Given the description of an element on the screen output the (x, y) to click on. 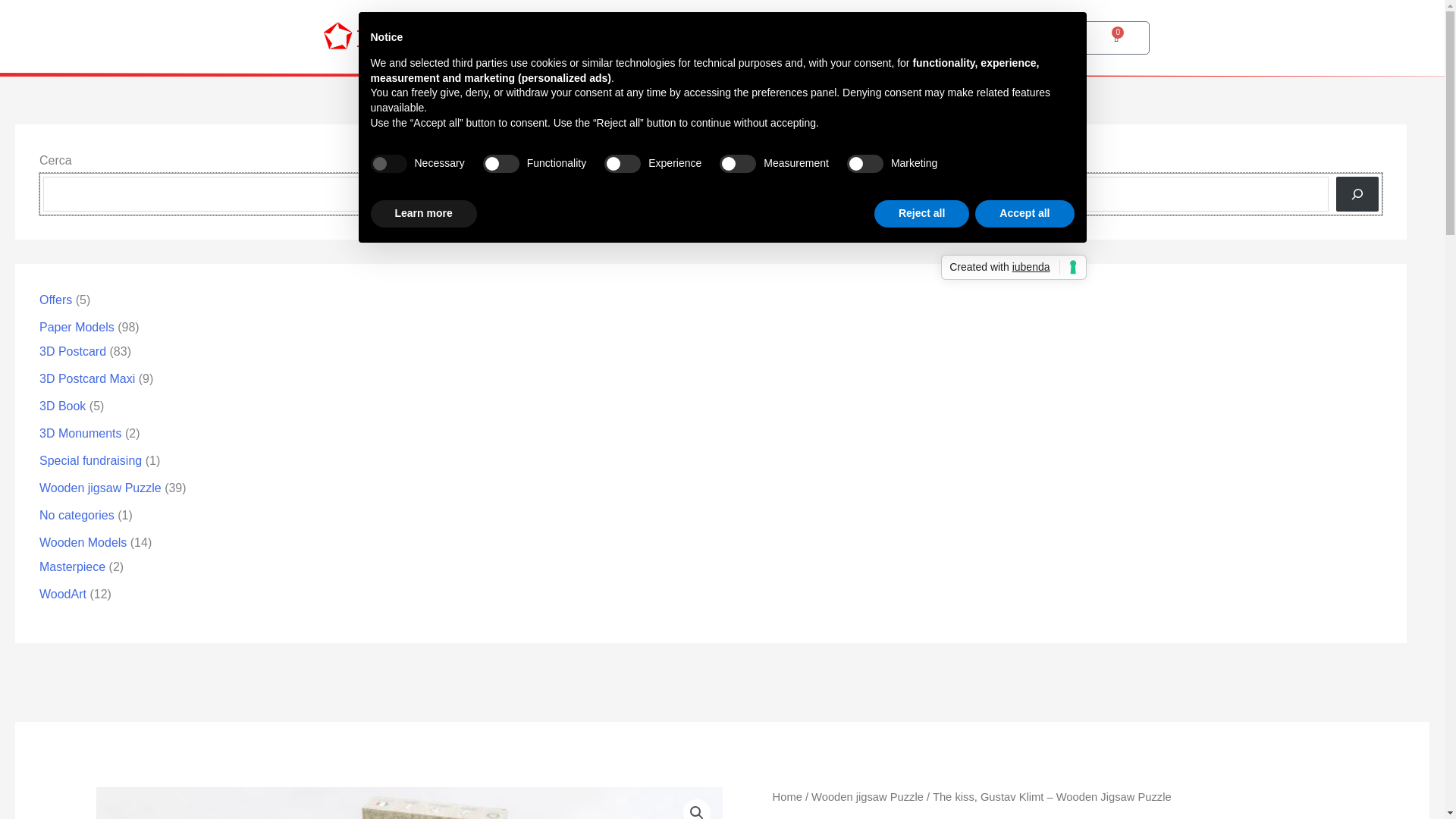
false (622, 163)
Shop (893, 38)
English (1035, 38)
false (1116, 37)
English (865, 163)
false (1035, 38)
false (737, 163)
true (501, 163)
